Given the description of an element on the screen output the (x, y) to click on. 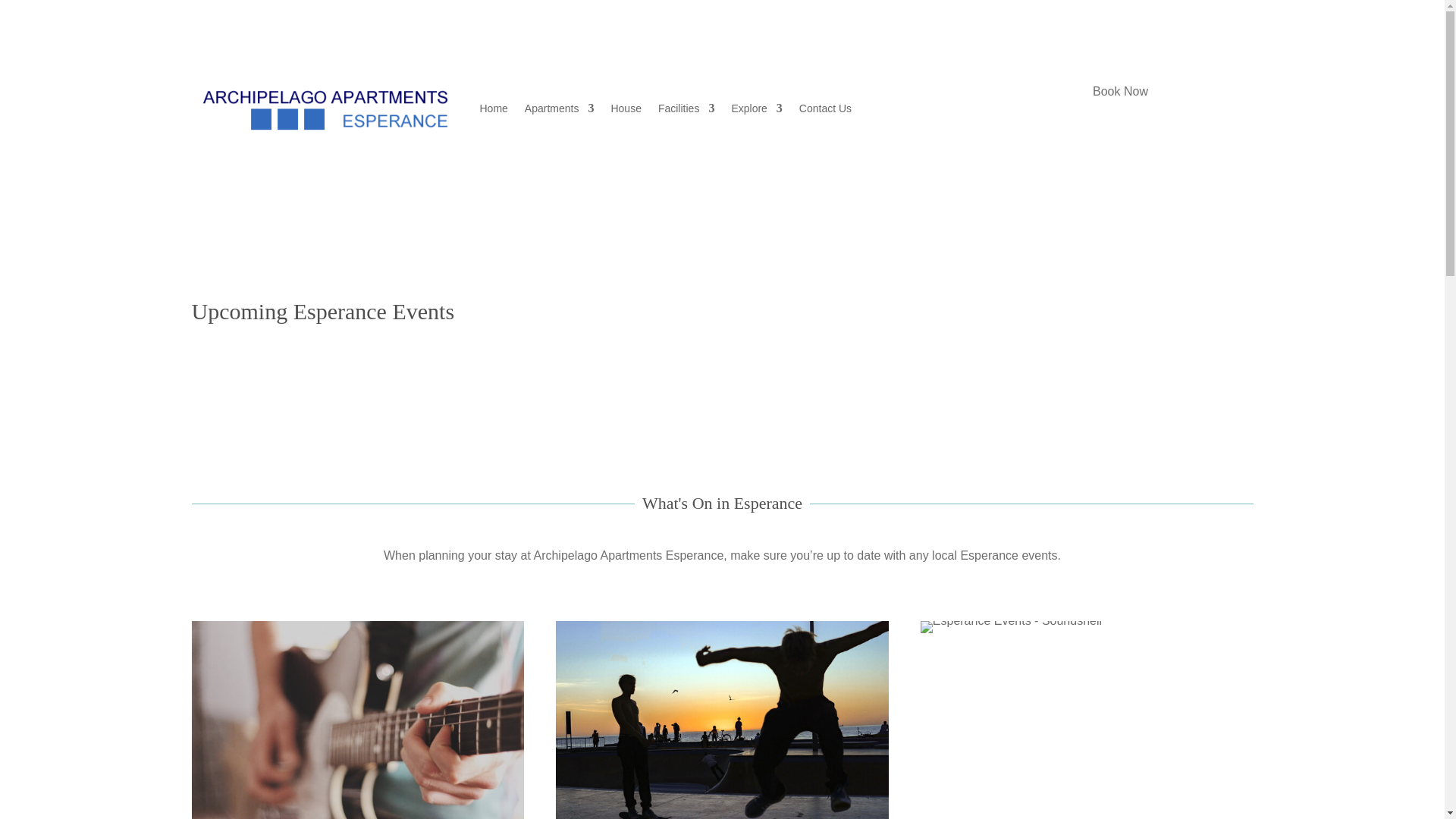
Facilities (686, 108)
Esperance Soundshell (1011, 626)
Esperance Live Music (357, 719)
Contact Us (825, 108)
Esperance Skateboarding Event (722, 719)
Apartments (559, 108)
